Given the description of an element on the screen output the (x, y) to click on. 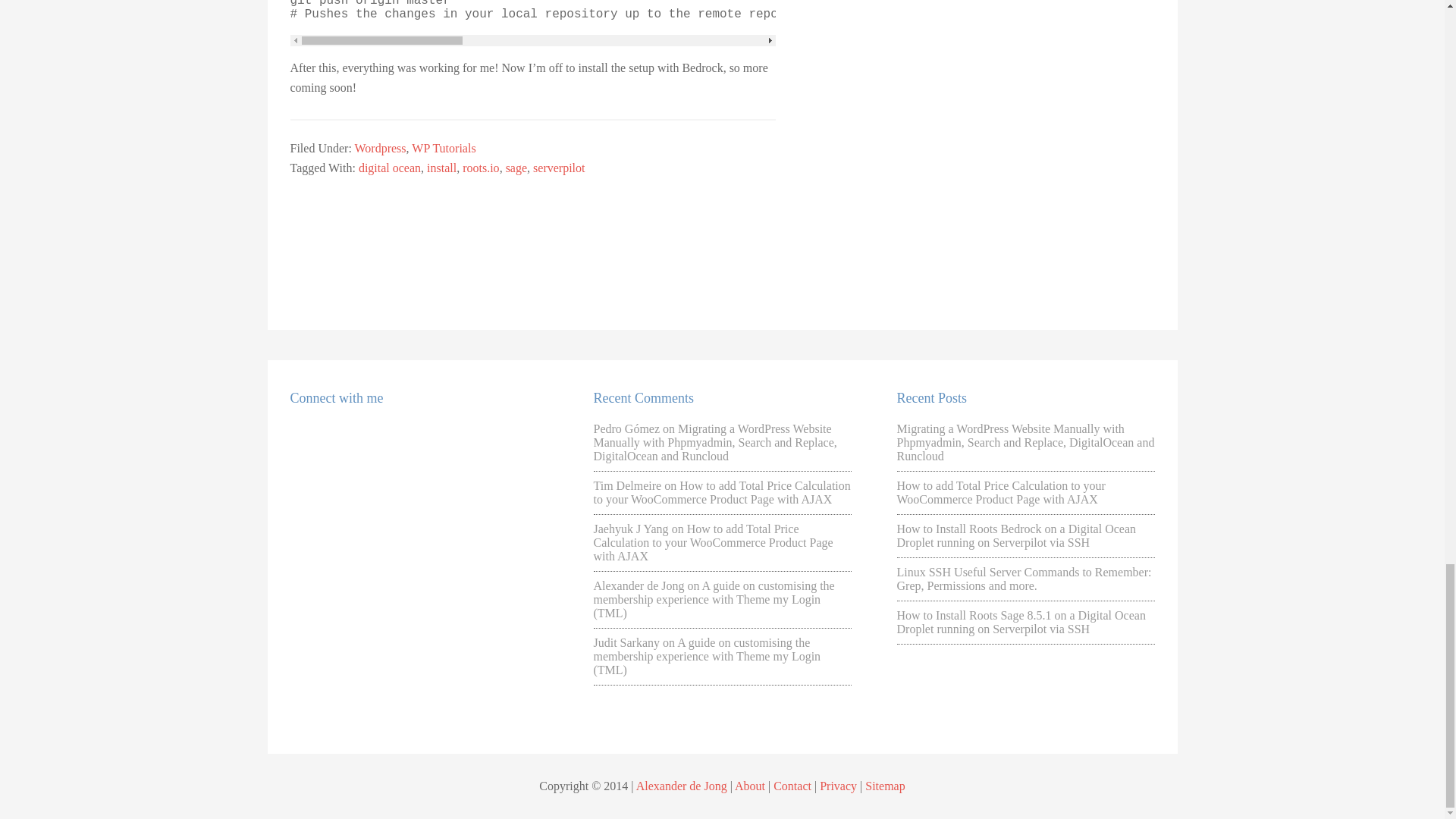
WP Tutorials (444, 147)
install (441, 167)
serverpilot (558, 167)
roots.io (481, 167)
Alexander de Jong (638, 585)
Wordpress (380, 147)
digital ocean (389, 167)
sage (516, 167)
